Given the description of an element on the screen output the (x, y) to click on. 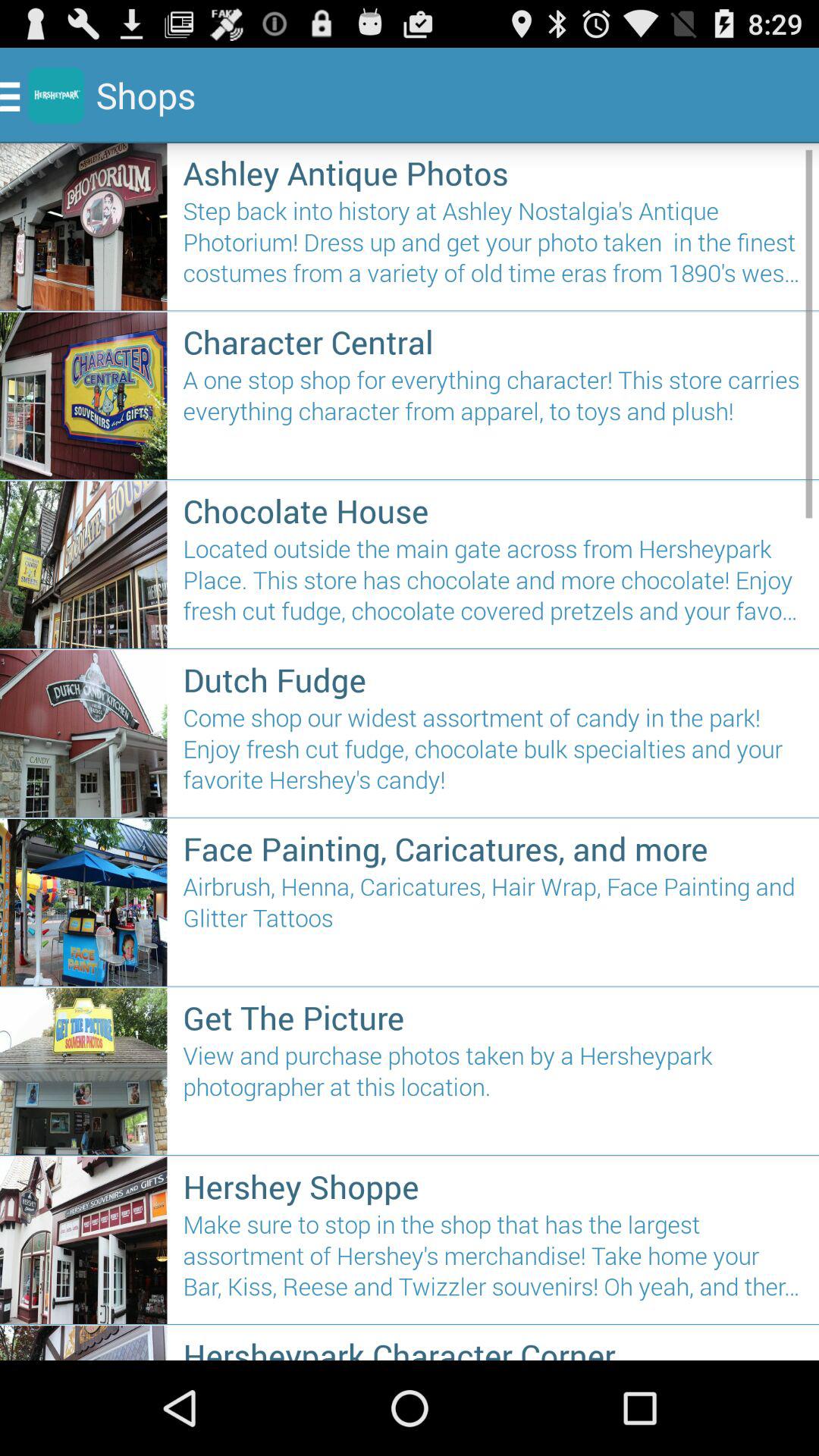
turn off character central icon (493, 341)
